Given the description of an element on the screen output the (x, y) to click on. 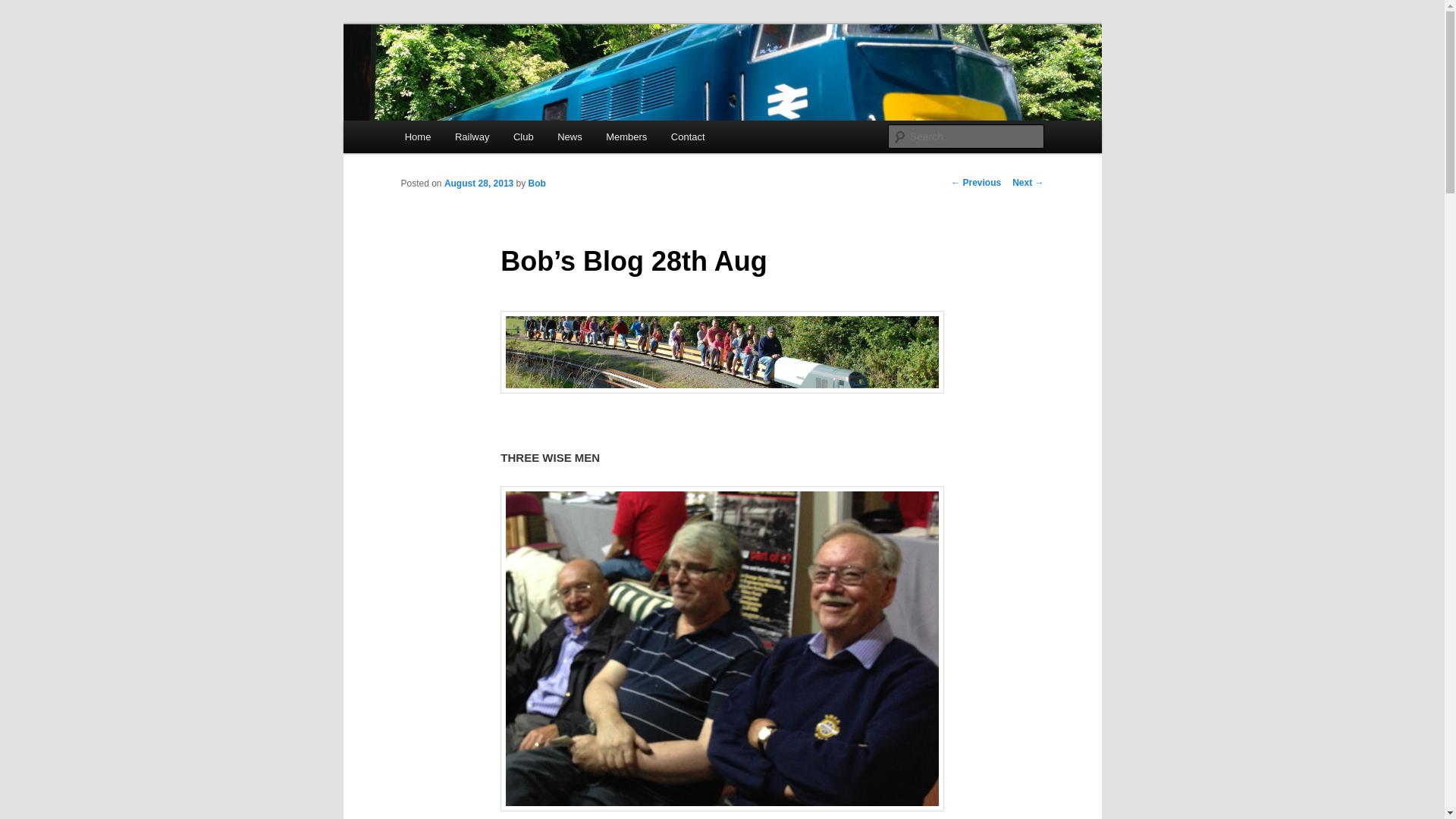
News (569, 136)
Club (522, 136)
Home (417, 136)
August 28, 2013 (478, 183)
Contact (687, 136)
Railway (471, 136)
Members (626, 136)
Bob (537, 183)
BSMEE (440, 78)
Members Only Section, Login Required. (626, 136)
Search (24, 8)
